Given the description of an element on the screen output the (x, y) to click on. 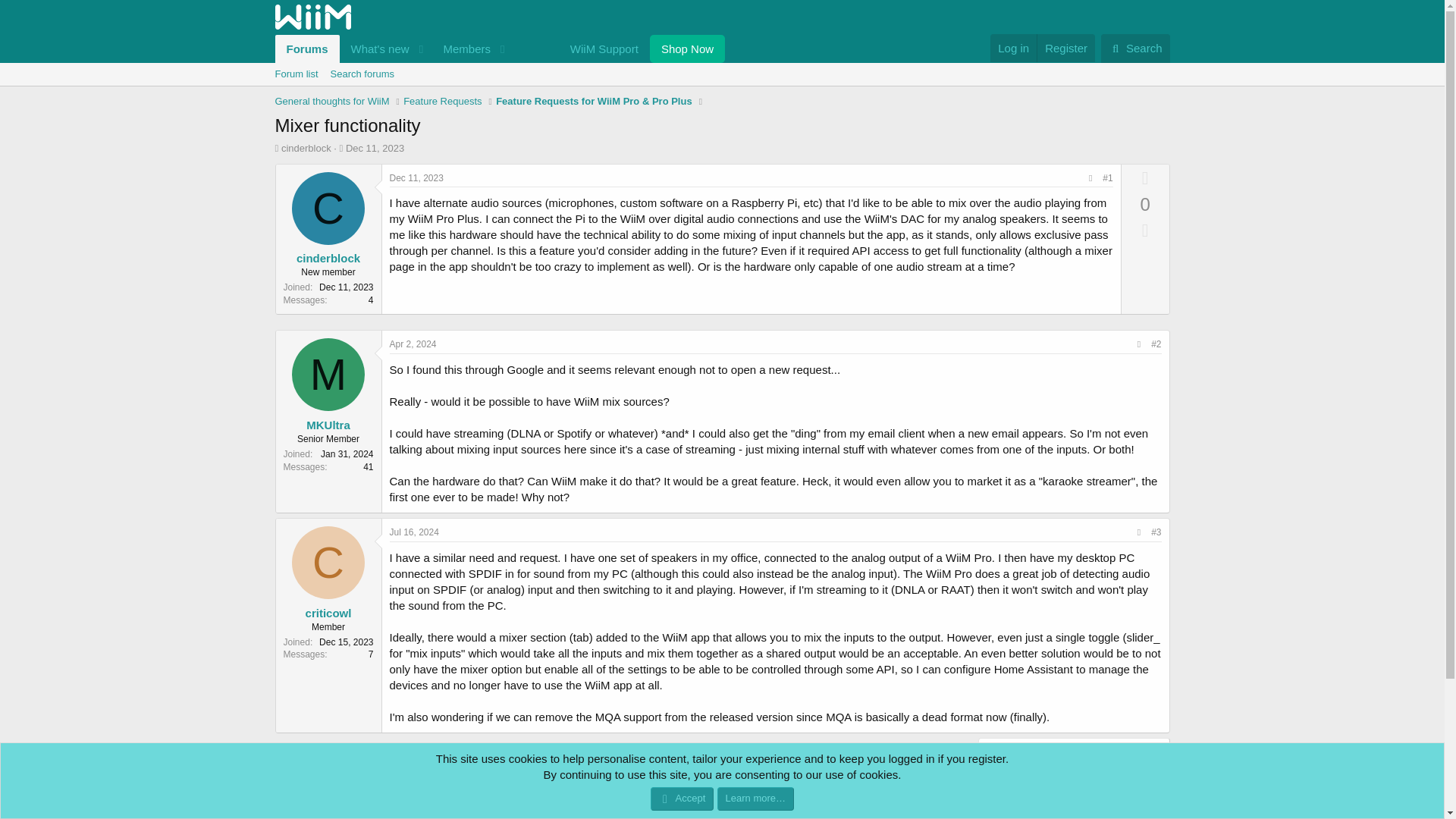
Log in (1013, 48)
Search (499, 66)
General thoughts for WiiM (1135, 48)
WiiM Support (331, 101)
Dec 11, 2023 at 1:05 PM (604, 49)
Feature Requests (375, 147)
Shop Now (442, 101)
Register (687, 49)
What's new (1065, 48)
